Given the description of an element on the screen output the (x, y) to click on. 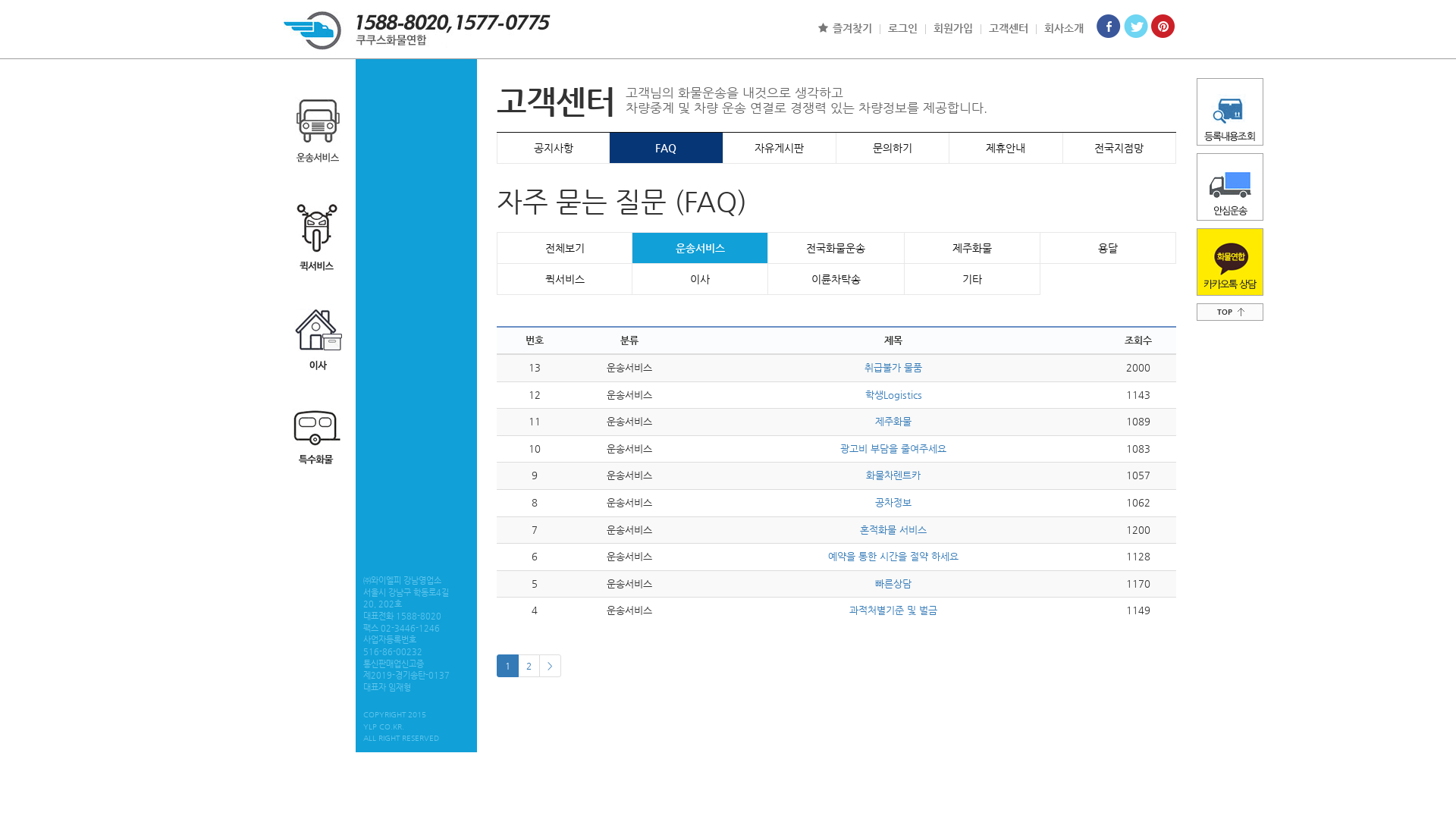
> Element type: text (550, 665)
FAQ Element type: text (665, 147)
2 Element type: text (528, 665)
